Given the description of an element on the screen output the (x, y) to click on. 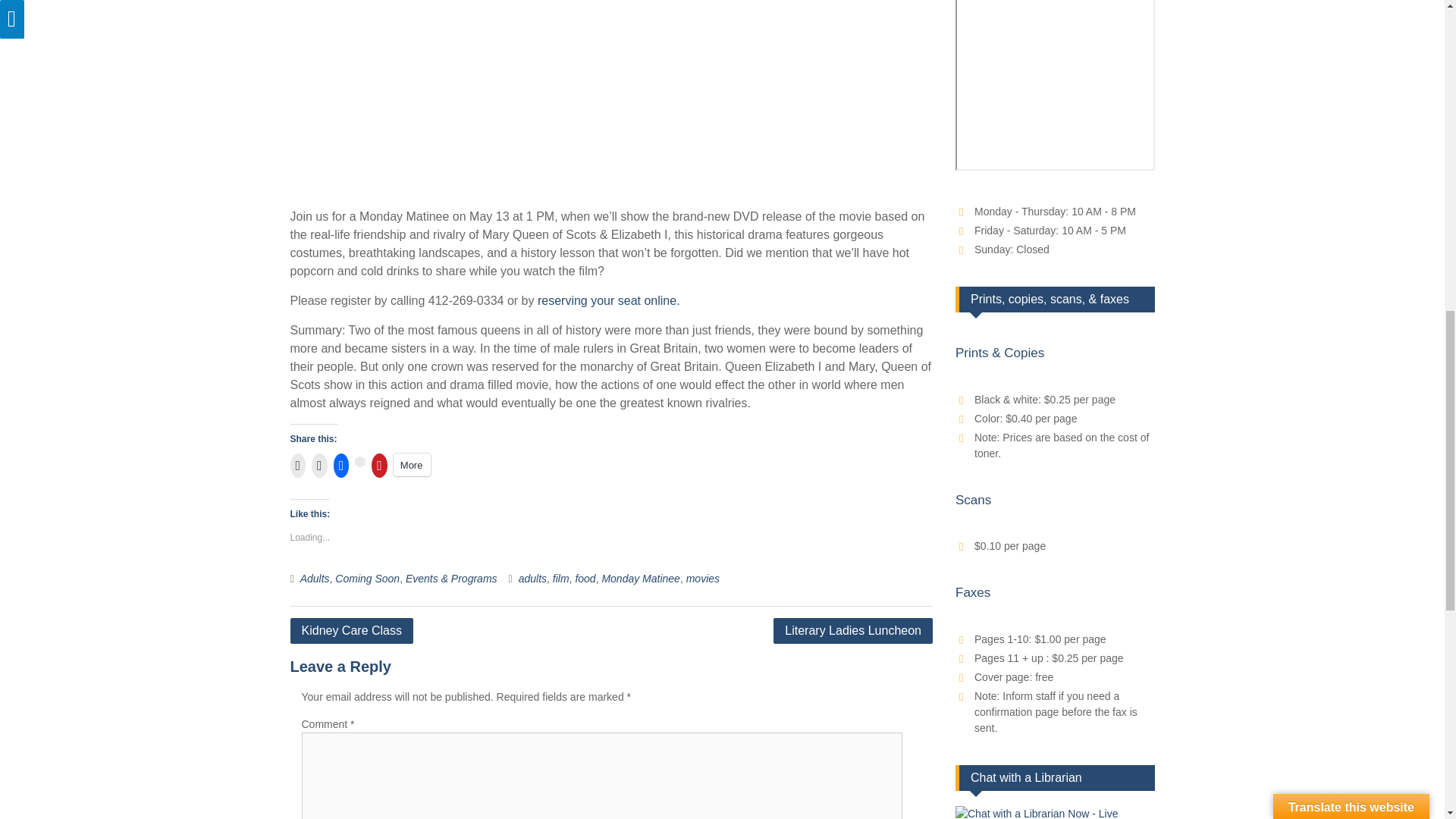
Kidney Care Class (351, 630)
film (561, 578)
food (585, 578)
Literary Ladies Luncheon (853, 630)
Adults (314, 578)
More (411, 464)
Coming Soon (366, 578)
reserving your seat online. (608, 300)
Click to share on X (360, 461)
Monday Matinee (640, 578)
